Given the description of an element on the screen output the (x, y) to click on. 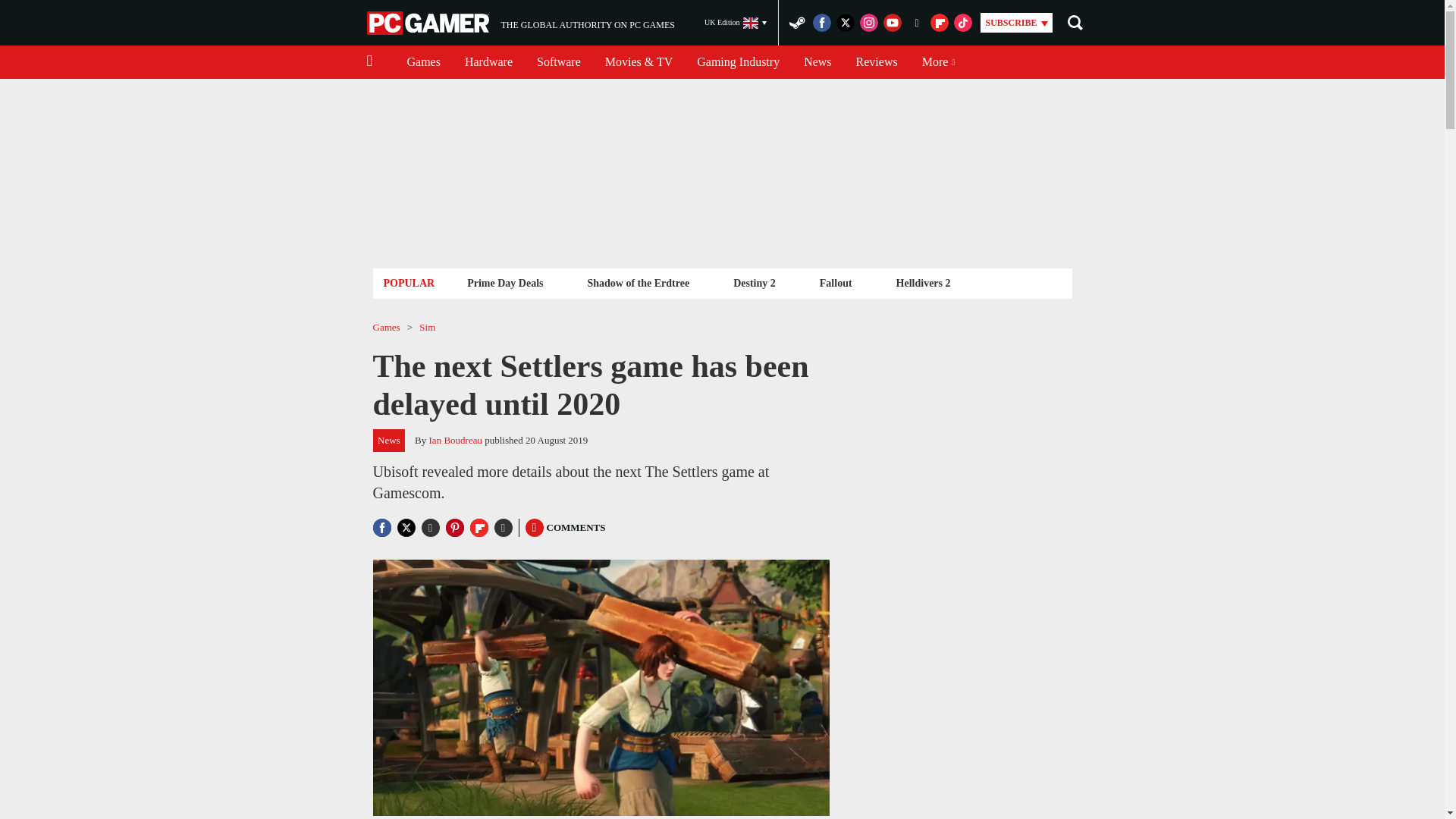
Software (558, 61)
Hardware (488, 61)
News (817, 61)
PC Gamer (429, 22)
Shadow of the Erdtree (637, 282)
Gaming Industry (738, 61)
Prime Day Deals (520, 22)
UK Edition (504, 282)
Games (735, 22)
Reviews (422, 61)
